Given the description of an element on the screen output the (x, y) to click on. 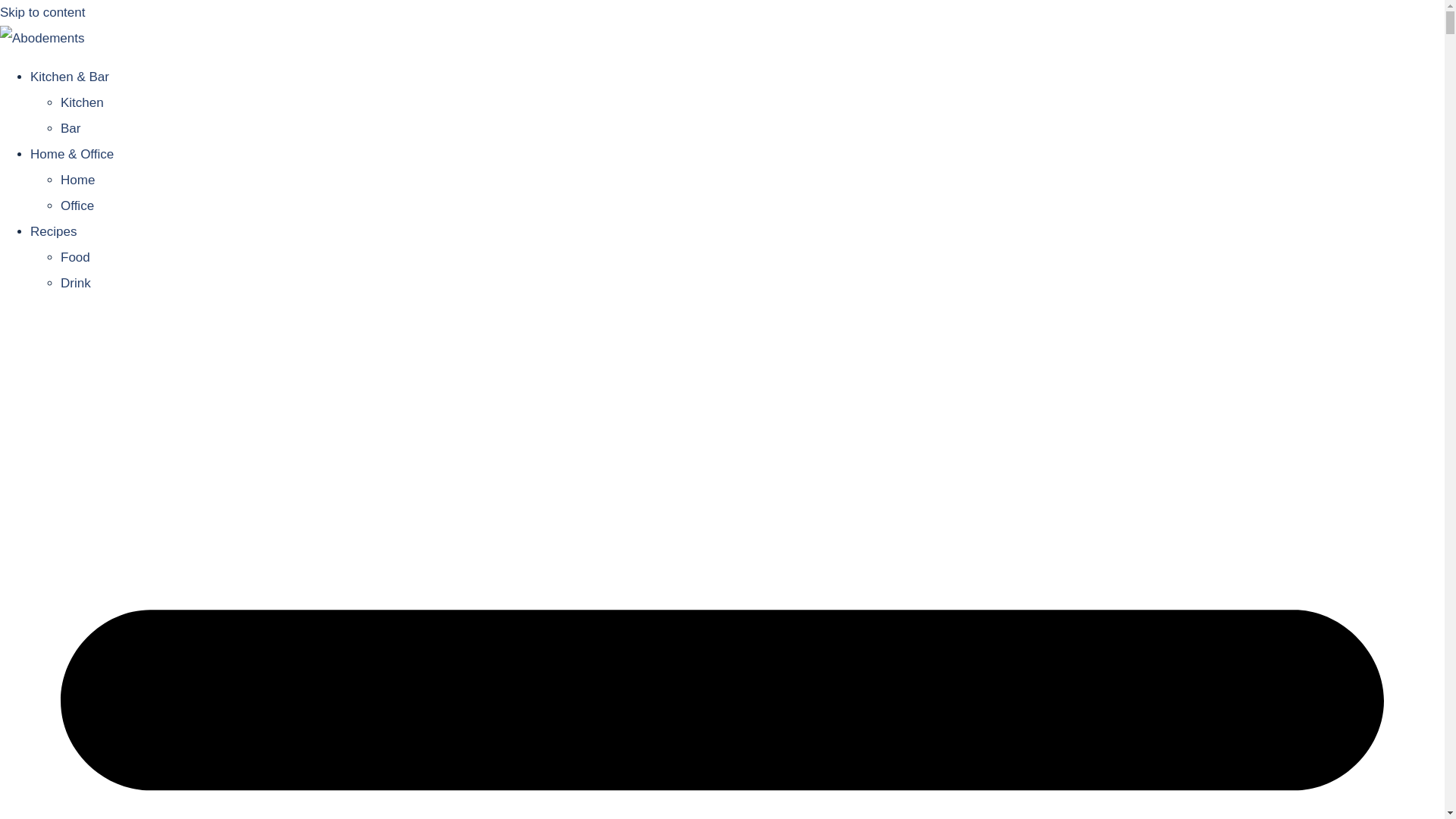
Food (75, 257)
Drink (75, 283)
Recipes (53, 231)
Bar (70, 128)
Kitchen (82, 102)
Office (77, 205)
Home (77, 179)
Skip to content (42, 11)
Skip to content (42, 11)
